Given the description of an element on the screen output the (x, y) to click on. 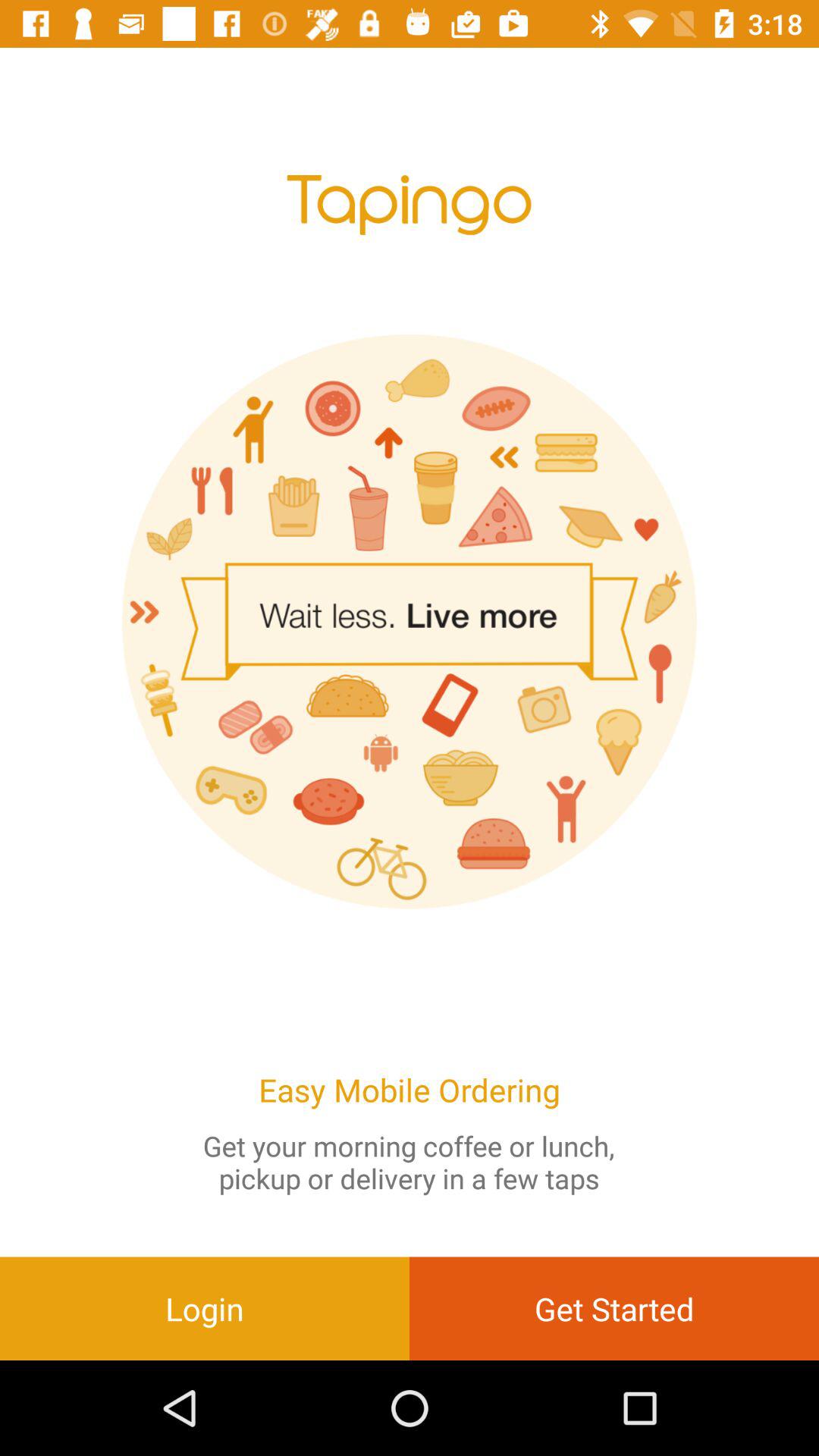
select the item below the get your morning (204, 1308)
